Given the description of an element on the screen output the (x, y) to click on. 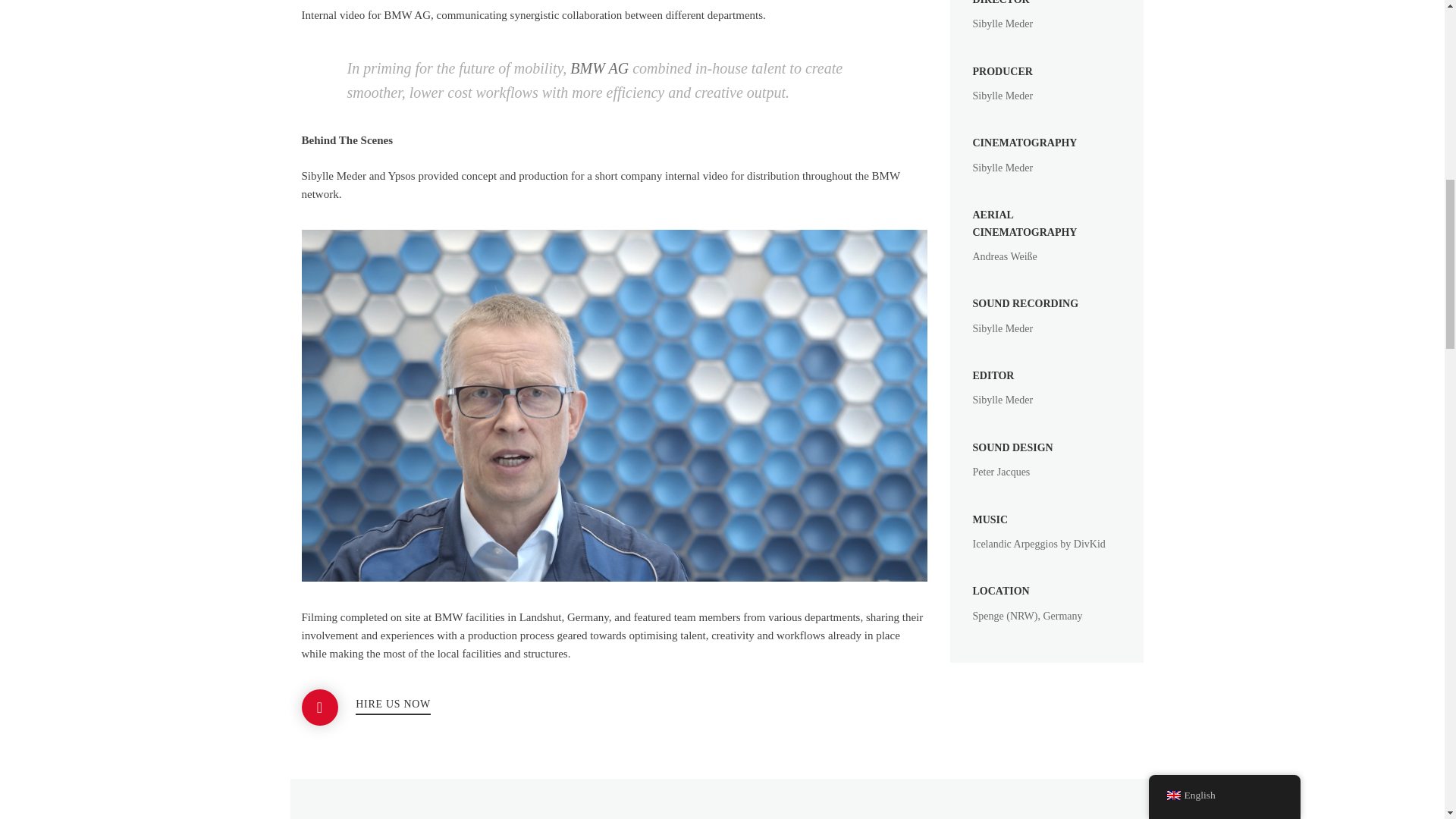
HIRE US NOW (392, 706)
BMW AG (599, 67)
